Given the description of an element on the screen output the (x, y) to click on. 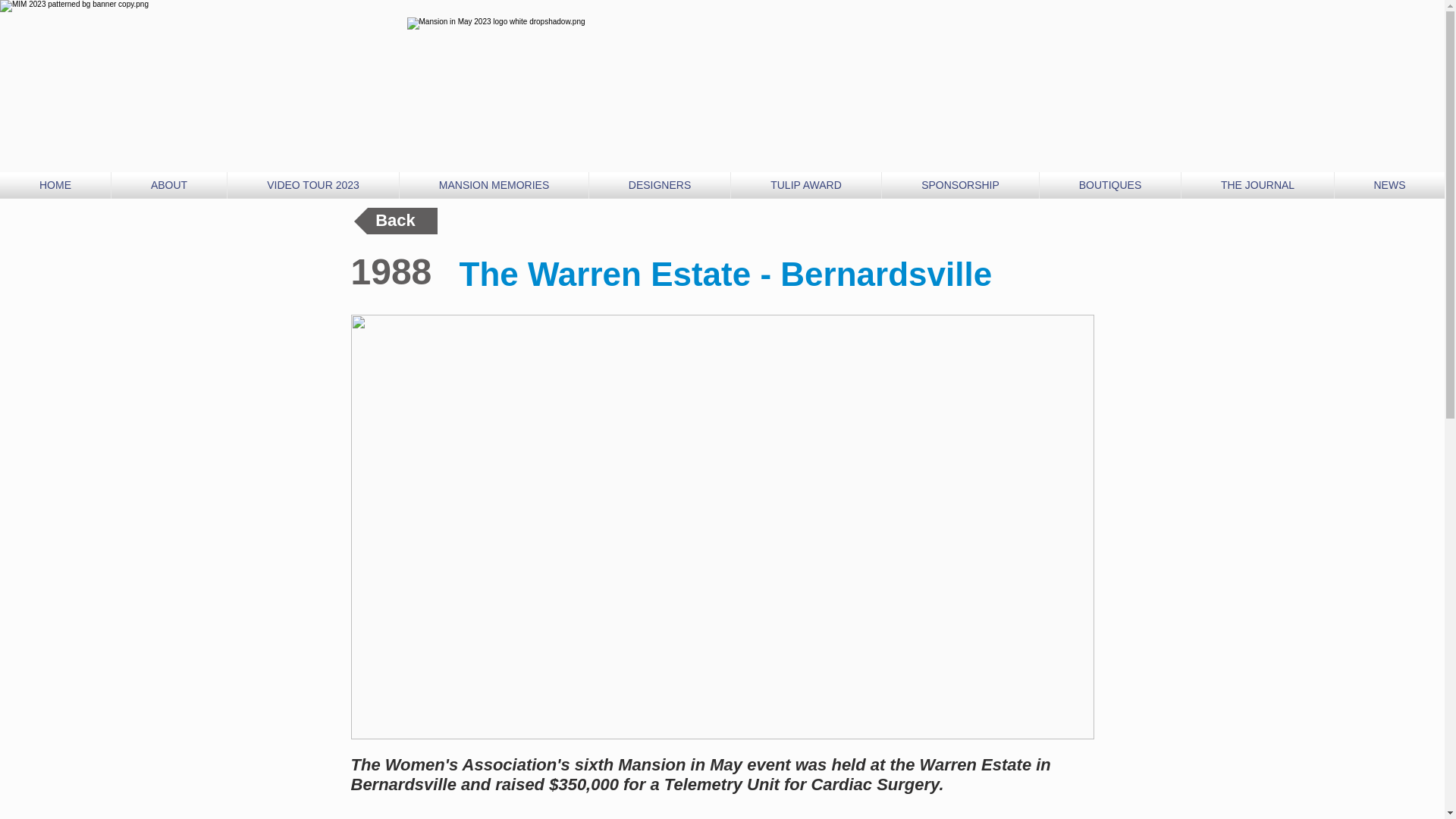
MANSION MEMORIES (493, 185)
DESIGNERS (659, 185)
VIDEO TOUR 2023 (312, 185)
SPONSORSHIP (960, 185)
HOME (55, 185)
THE JOURNAL (1256, 185)
TULIP AWARD (805, 185)
ABOUT (169, 185)
Back (394, 221)
BOUTIQUES (1109, 185)
